Given the description of an element on the screen output the (x, y) to click on. 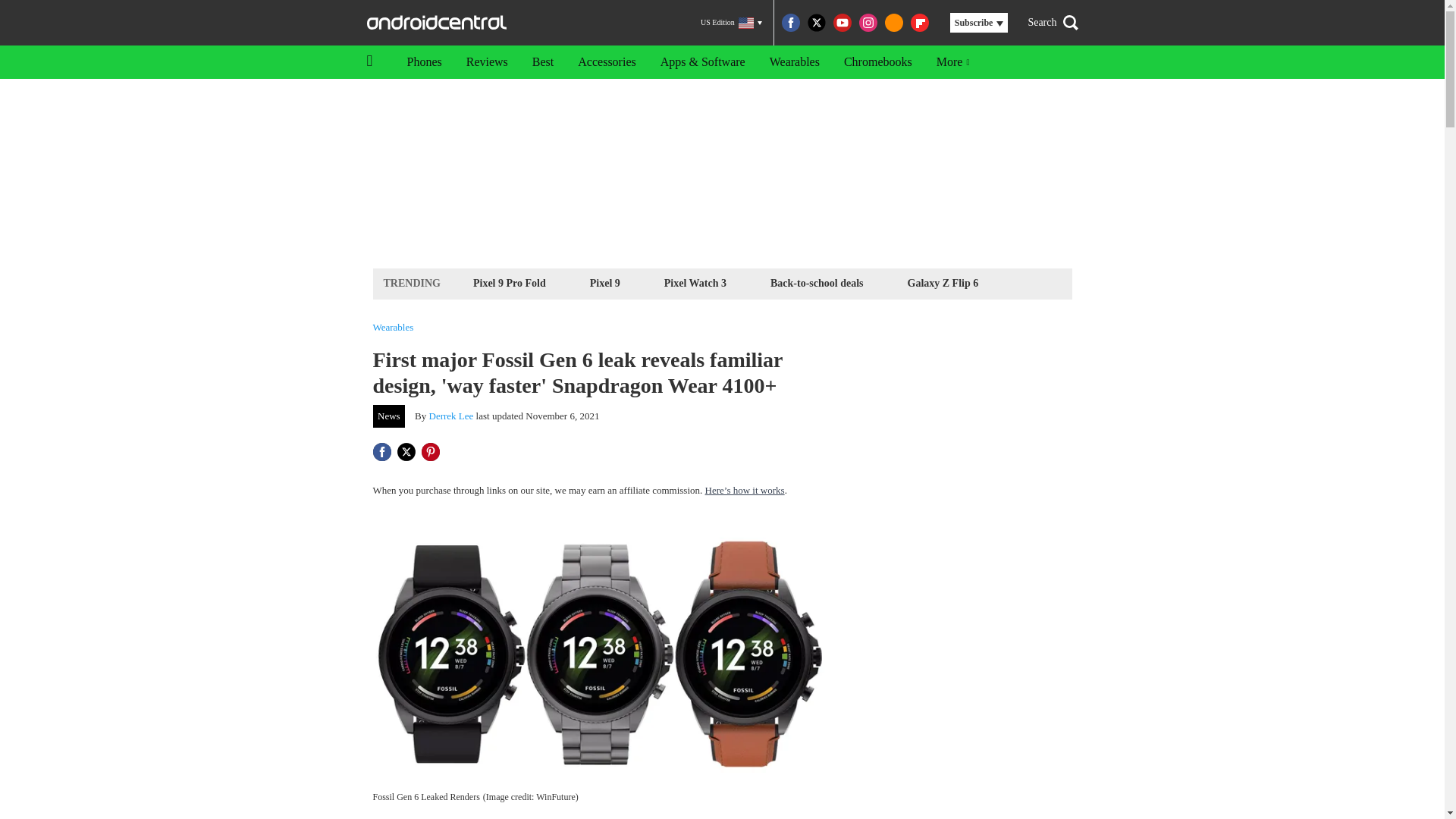
Pixel Watch 3 (695, 282)
Accessories (606, 61)
Best (542, 61)
Reviews (486, 61)
Wearables (392, 327)
US Edition (731, 22)
Phones (423, 61)
Derrek Lee (451, 415)
Back-to-school deals (817, 282)
Pixel 9 Pro Fold (509, 282)
